Given the description of an element on the screen output the (x, y) to click on. 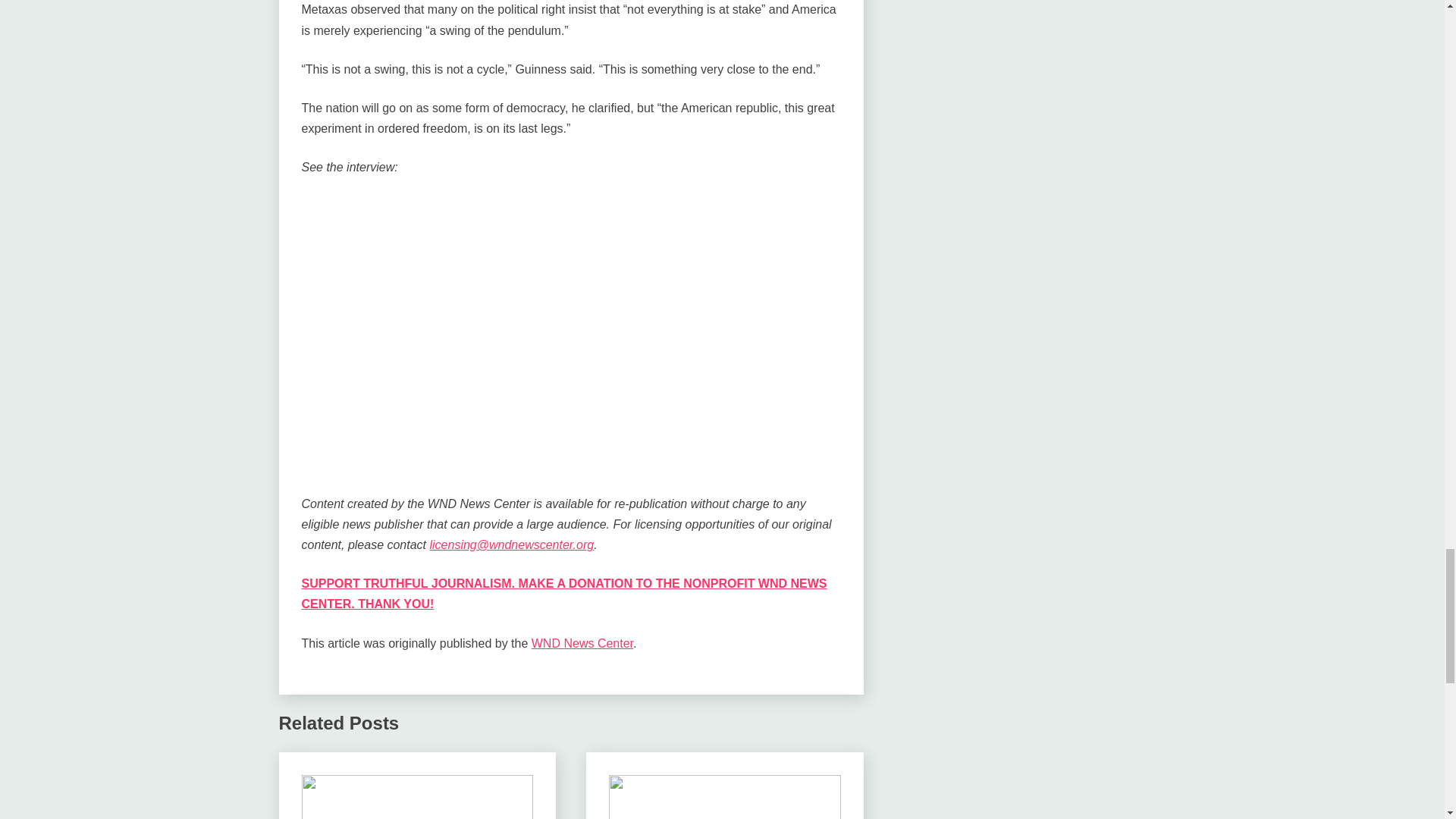
WND News Center (582, 643)
